Given the description of an element on the screen output the (x, y) to click on. 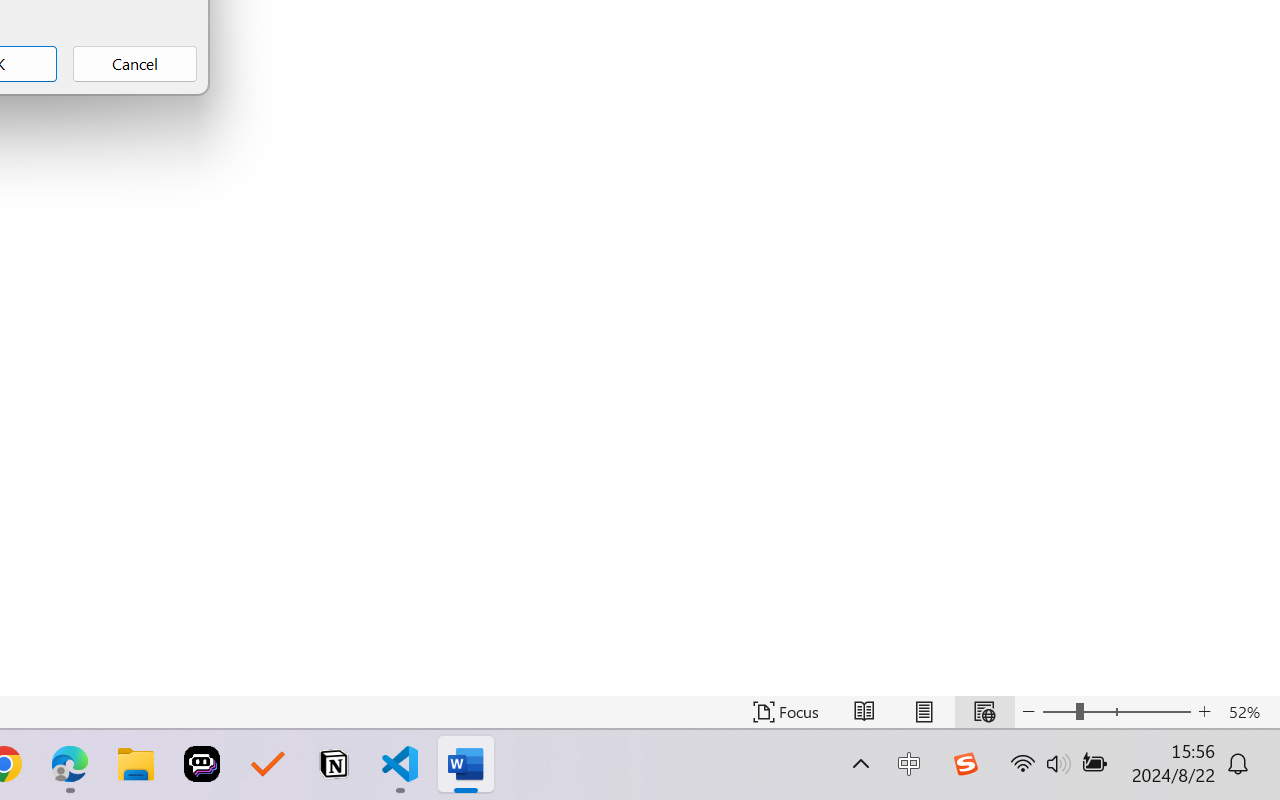
Poe (201, 764)
Print Layout (924, 712)
Zoom (1116, 712)
Cancel (134, 63)
Zoom 52% (1249, 712)
Zoom Out (1058, 712)
Read Mode (864, 712)
Web Layout (984, 712)
